Given the description of an element on the screen output the (x, y) to click on. 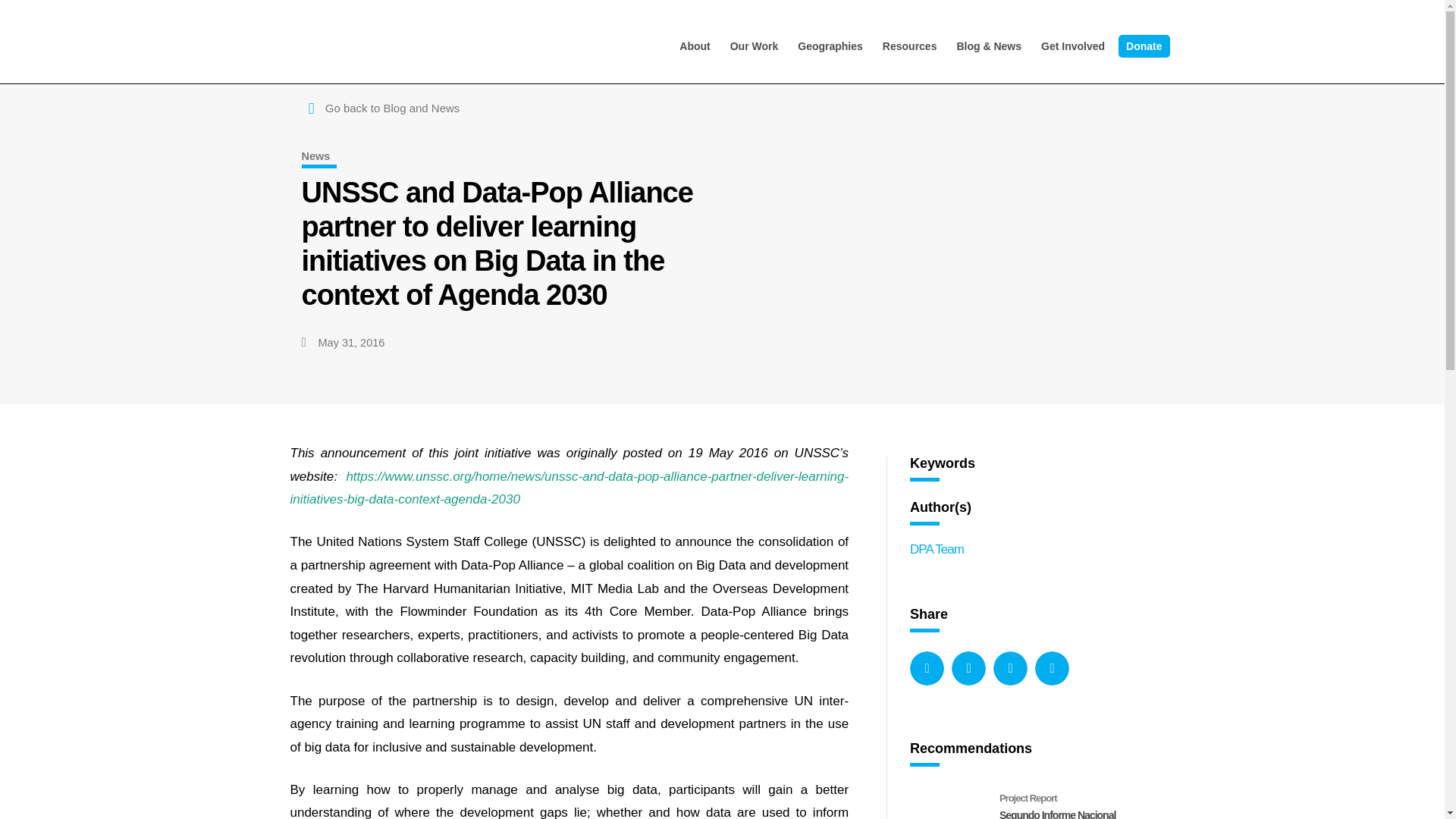
About (694, 45)
Our Work (753, 45)
Geographies (830, 45)
Resources (909, 45)
